Given the description of an element on the screen output the (x, y) to click on. 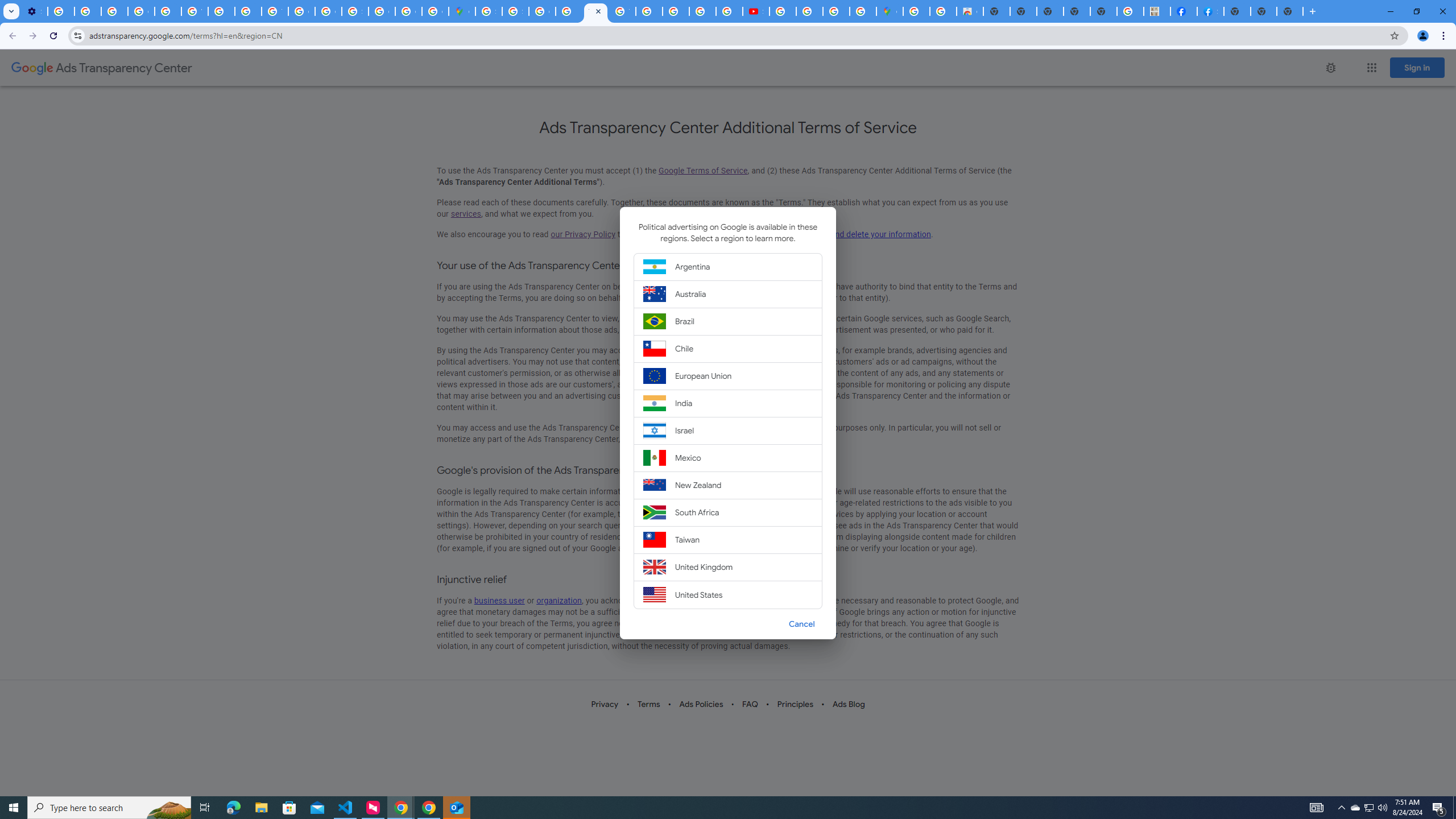
Google Account Help (141, 11)
business user (499, 601)
Sign Up for Facebook (1210, 11)
Blogger Policies and Guidelines - Transparency Center (649, 11)
organization (558, 601)
Settings - Customize profile (34, 11)
YouTube (194, 11)
Privacy Help Center - Policies Help (702, 11)
Mexico (727, 457)
Privacy (604, 703)
services (464, 213)
Cancel (801, 623)
